Given the description of an element on the screen output the (x, y) to click on. 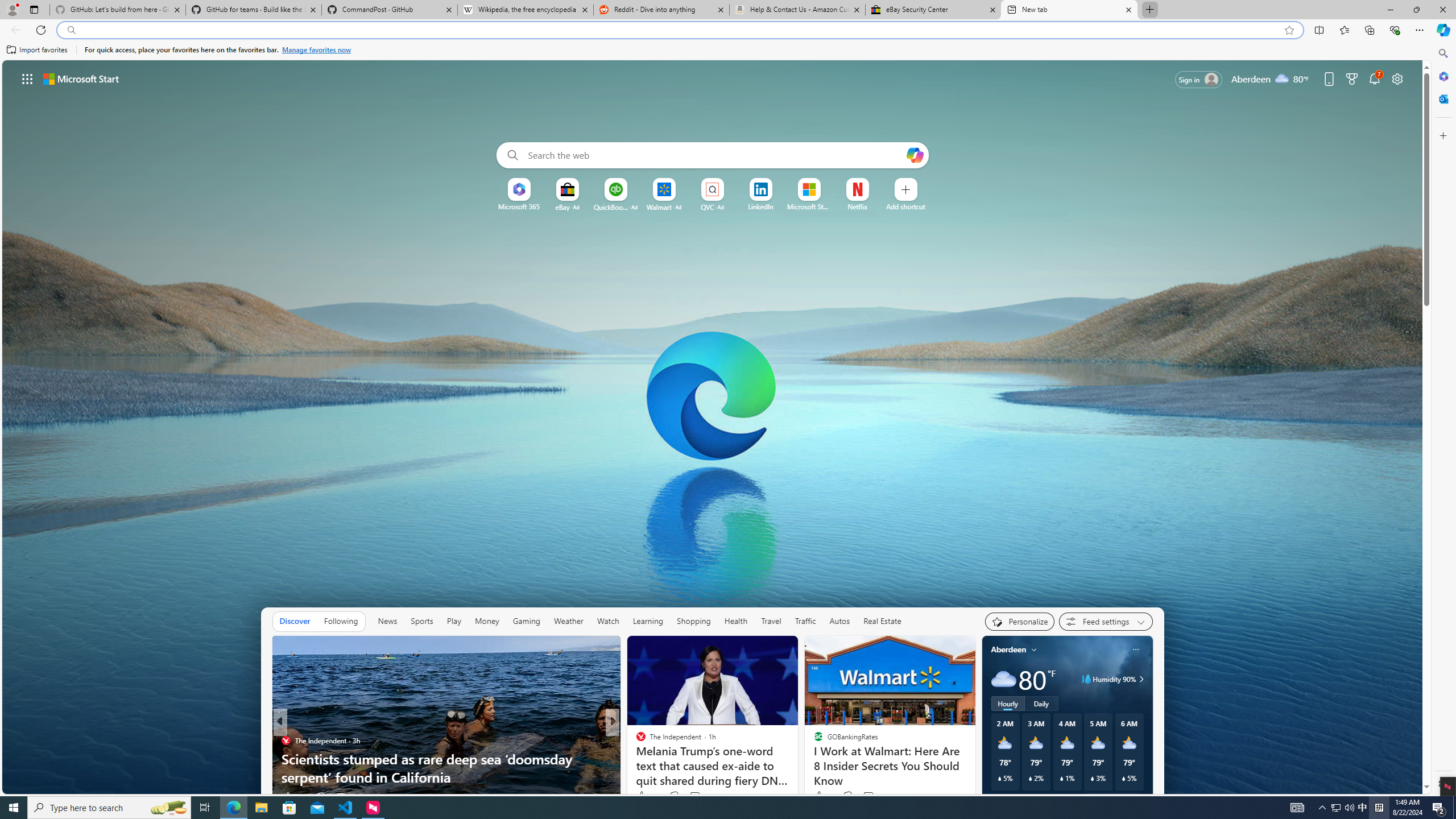
View comments 8 Comment (695, 796)
View comments 31 Comment (696, 796)
Comparables.ai (654, 758)
Autos (839, 621)
View comments 161 Comment (874, 795)
Cloudy (1003, 678)
View comments 58 Comment (691, 797)
